Given the description of an element on the screen output the (x, y) to click on. 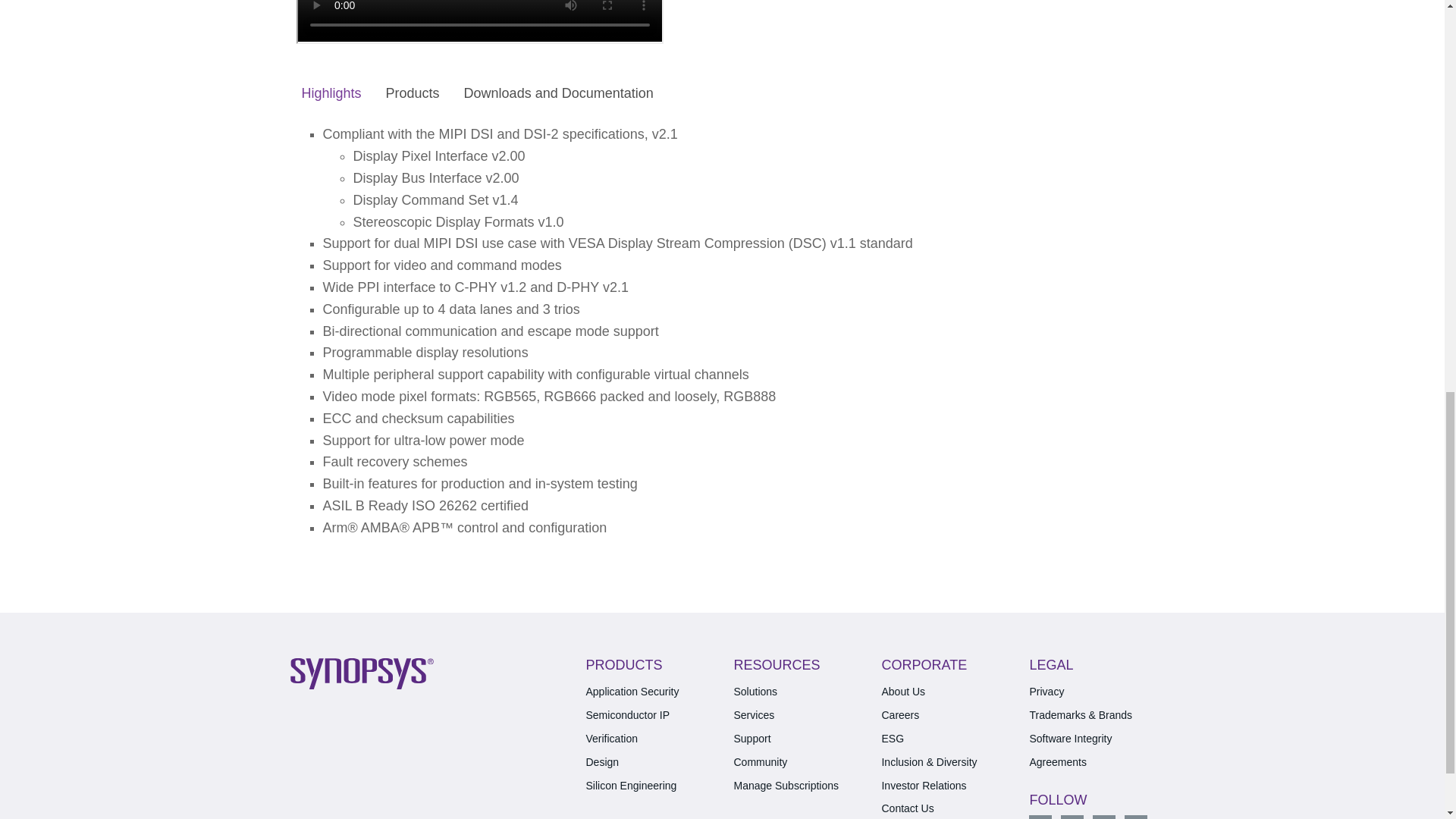
Facebook (1104, 816)
Youtube (1135, 816)
Twitter (1040, 816)
Linkedin (1072, 816)
